Given the description of an element on the screen output the (x, y) to click on. 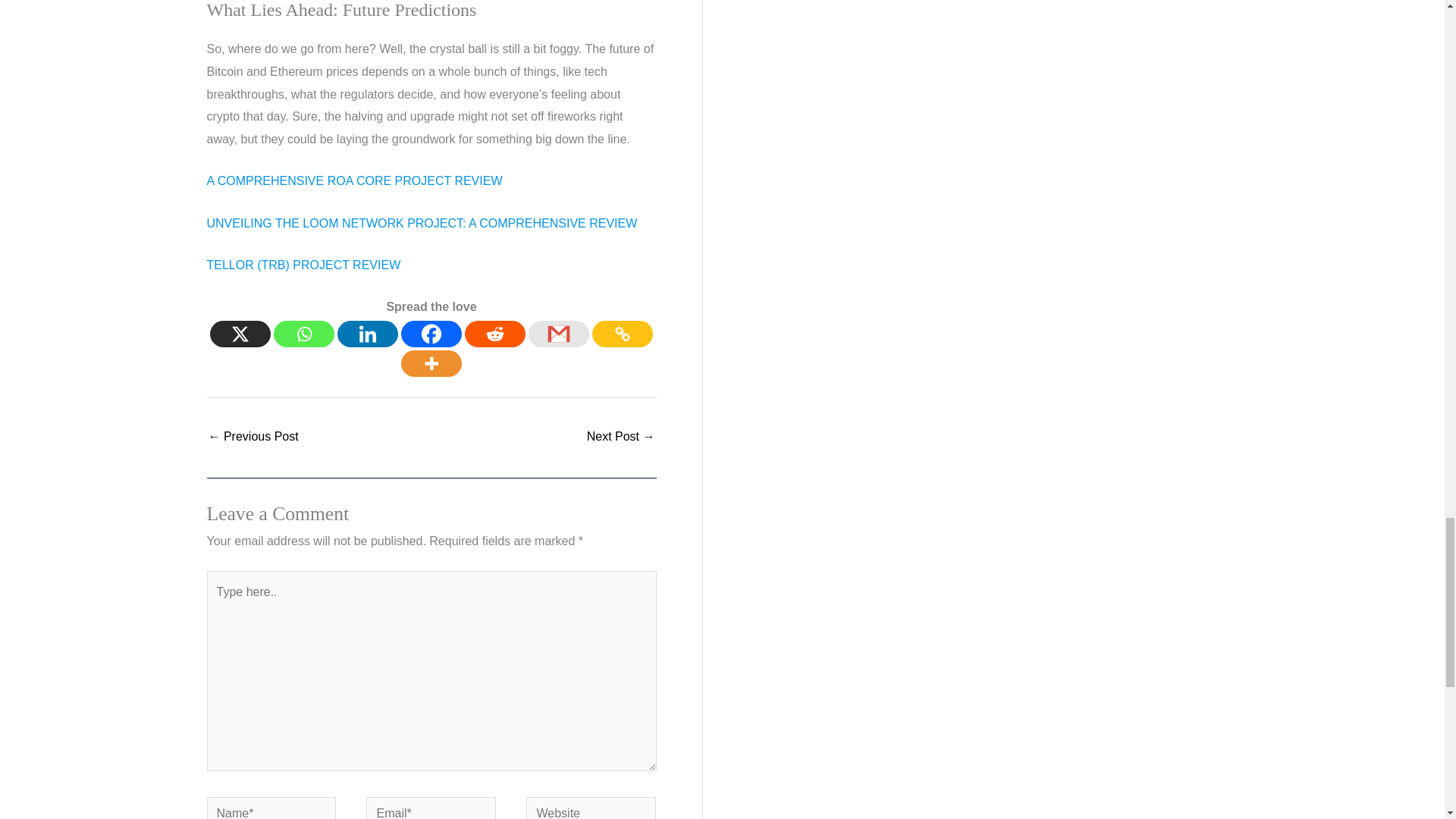
UNVEILING THE LOOM NETWORK PROJECT: A COMPREHENSIVE REVIEW (421, 223)
Google Gmail (558, 334)
Copy Link (622, 334)
Reddit (494, 334)
Why Dexe Token Price is Up, Major Factors (620, 438)
More (431, 363)
Linkedin (367, 334)
Facebook (431, 334)
X (239, 334)
A COMPREHENSIVE ROA CORE PROJECT REVIEW (354, 180)
